Given the description of an element on the screen output the (x, y) to click on. 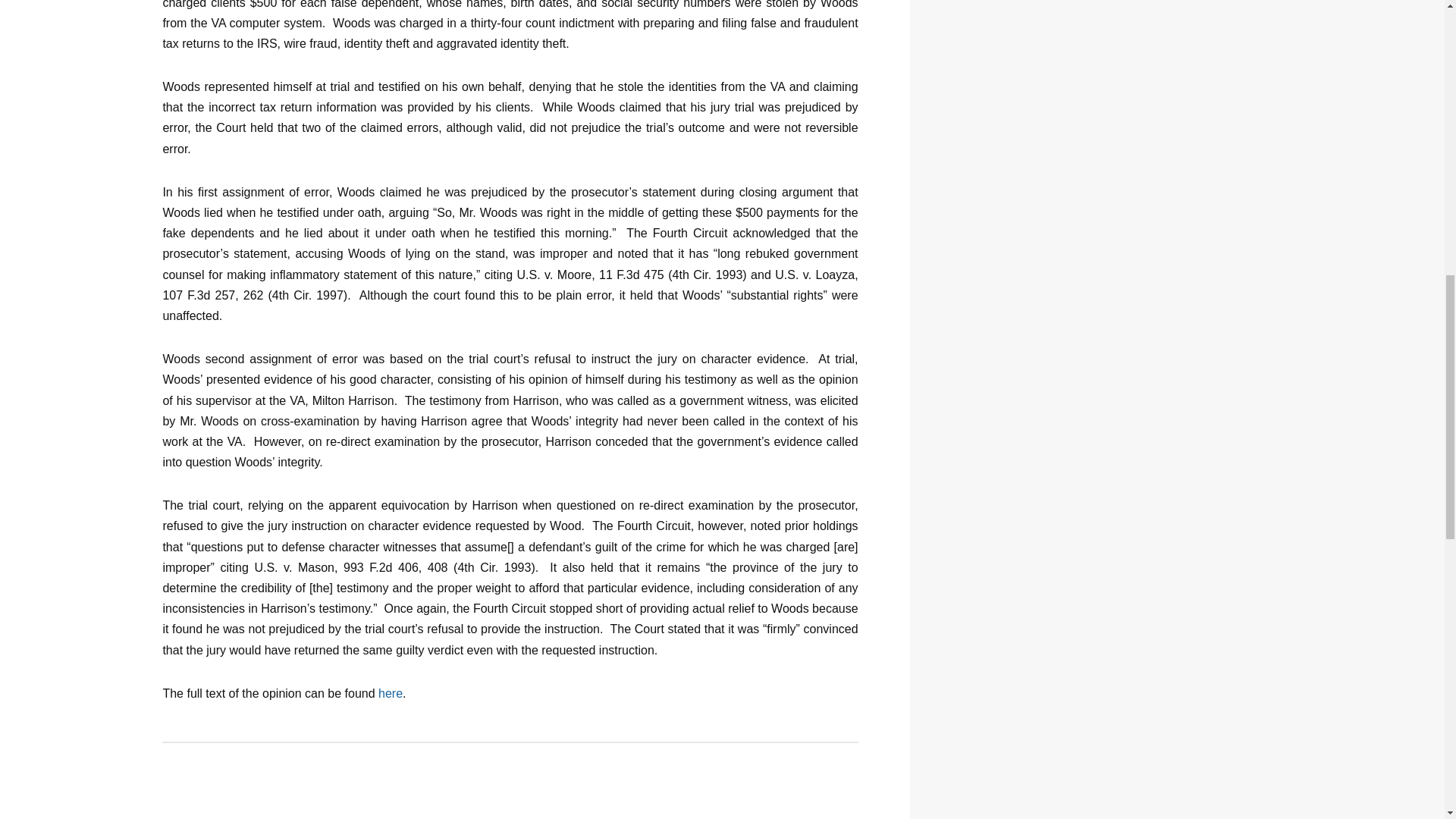
here (390, 693)
